Given the description of an element on the screen output the (x, y) to click on. 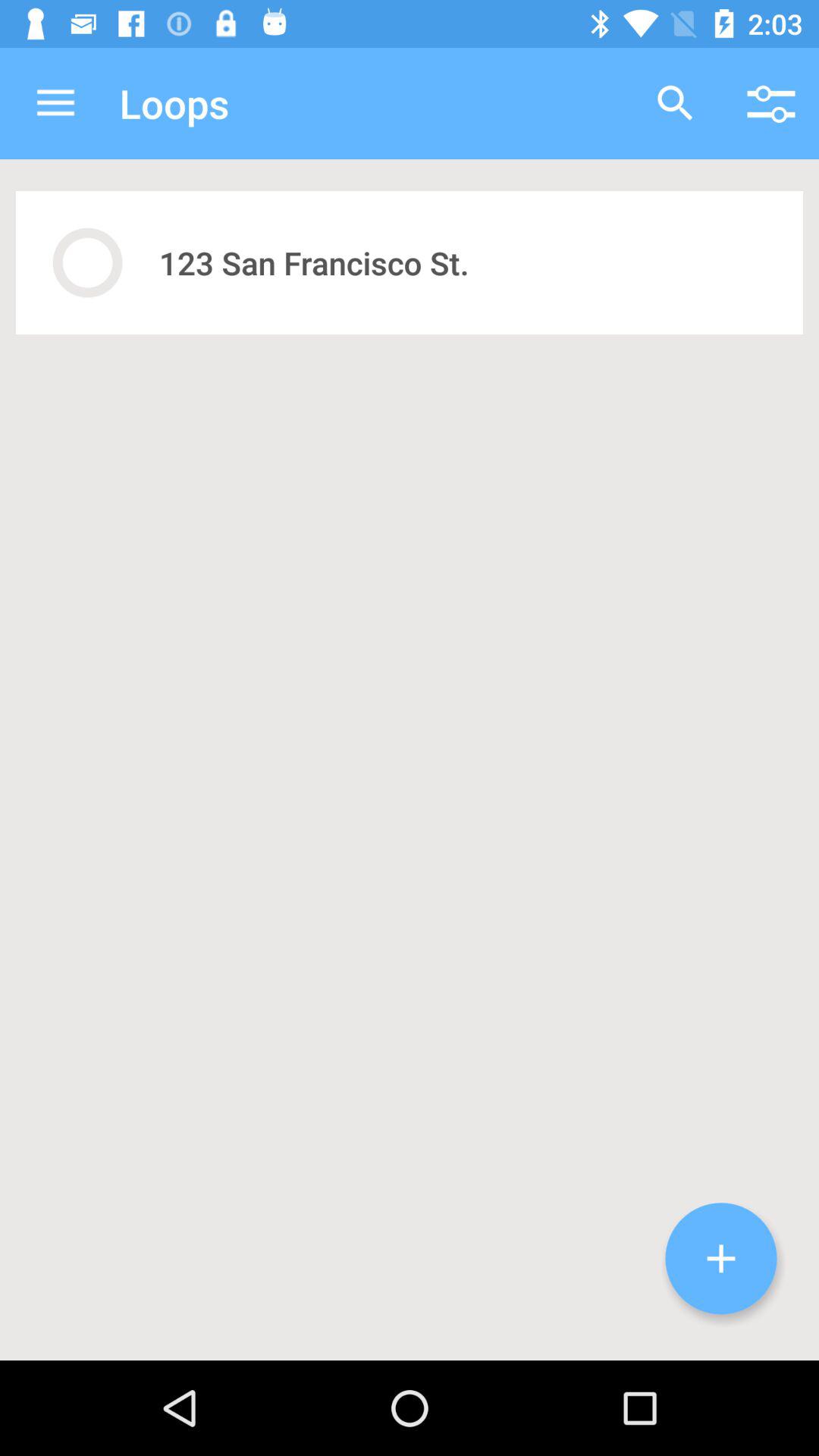
press the item to the right of the loops (675, 103)
